Given the description of an element on the screen output the (x, y) to click on. 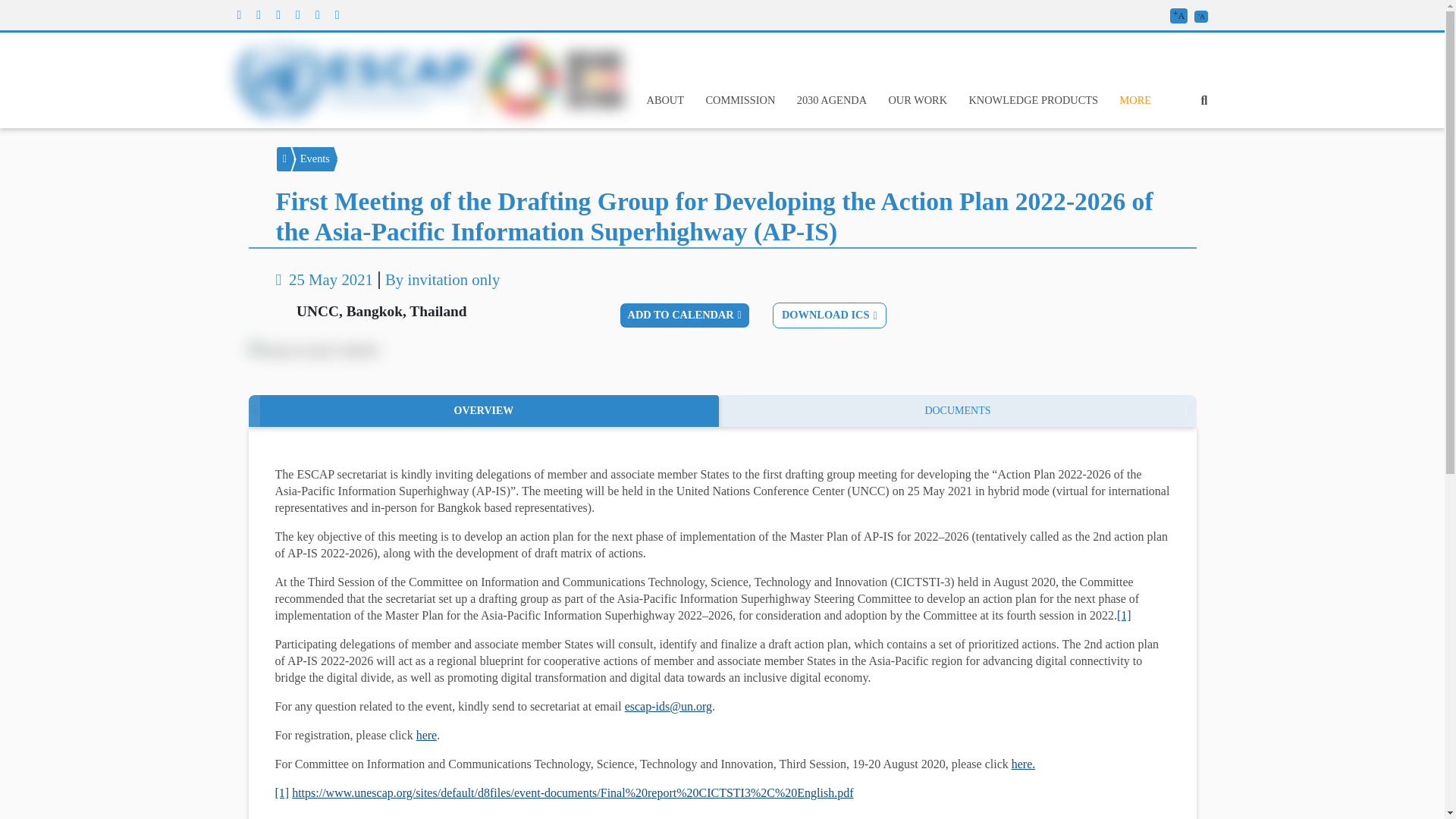
SDG Decade of Action (552, 78)
A (1179, 15)
ABOUT (665, 100)
COMMISSION (739, 100)
A (1200, 16)
